Given the description of an element on the screen output the (x, y) to click on. 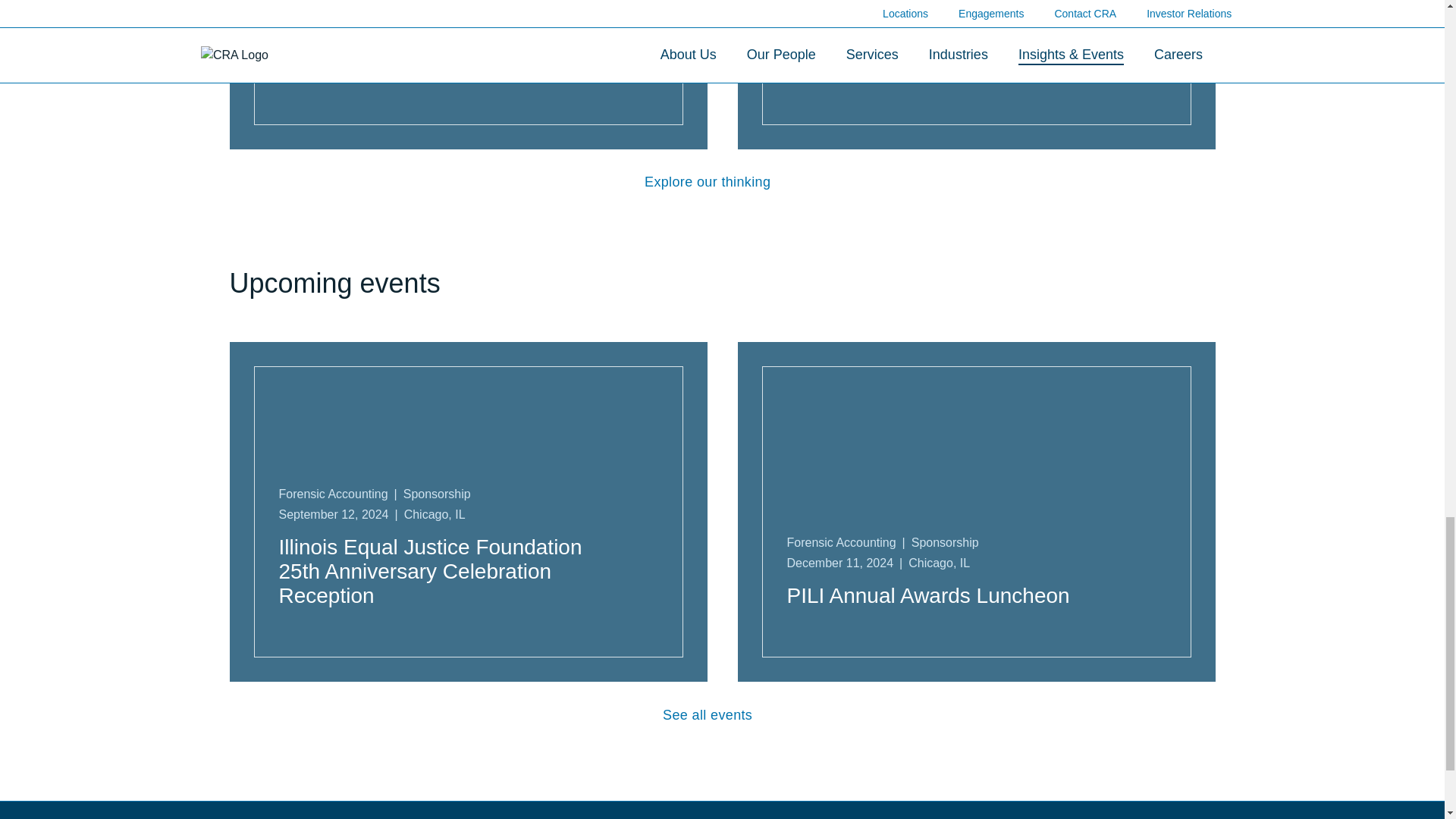
Explore our thinking (722, 181)
See all events (721, 714)
